Given the description of an element on the screen output the (x, y) to click on. 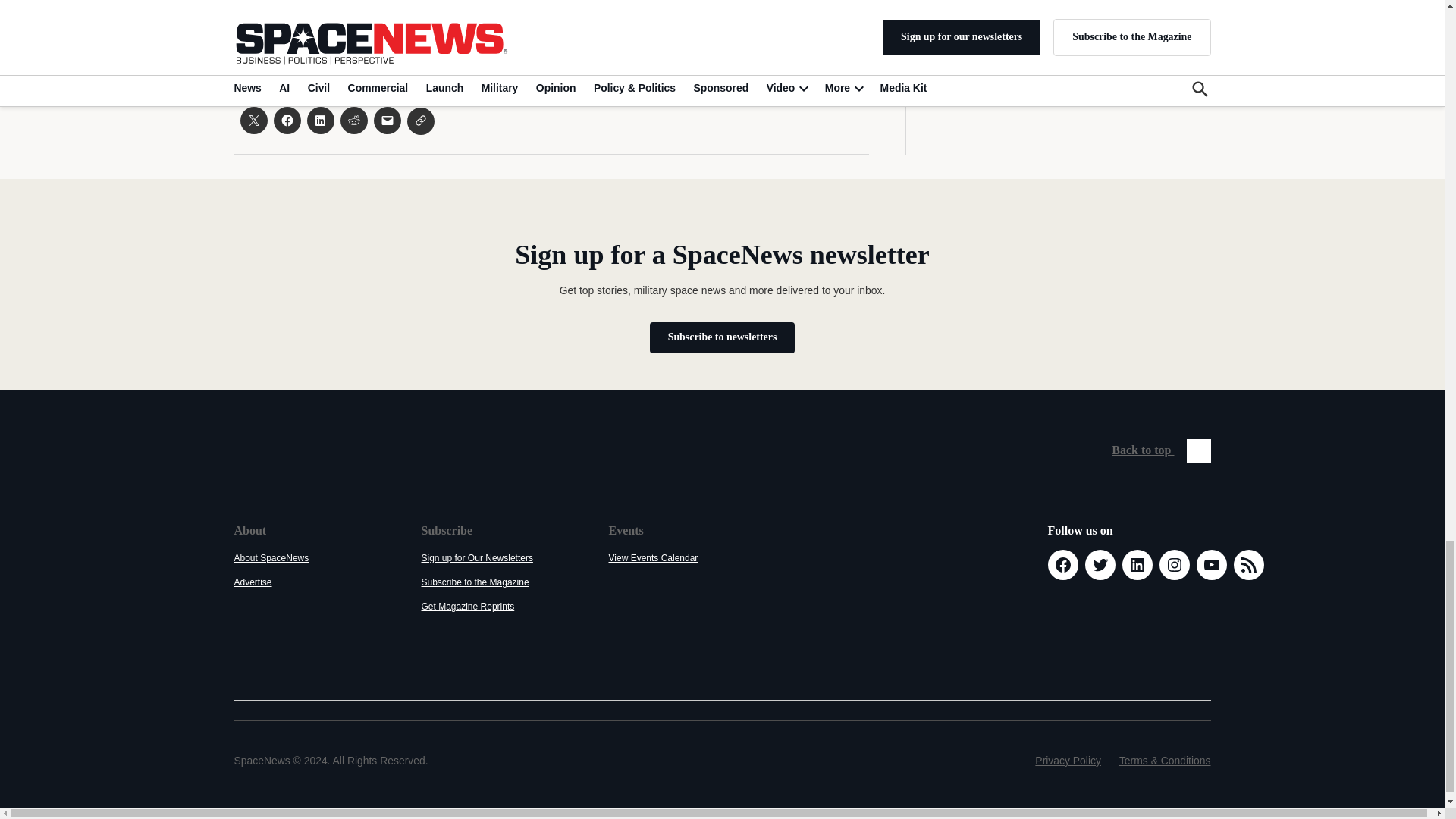
Click to share on Reddit (352, 120)
Click to email a link to a friend (386, 120)
Click to share on X (253, 120)
Click to share on Facebook (286, 120)
Click to share on Clipboard (419, 121)
Click to share on LinkedIn (319, 120)
